Given the description of an element on the screen output the (x, y) to click on. 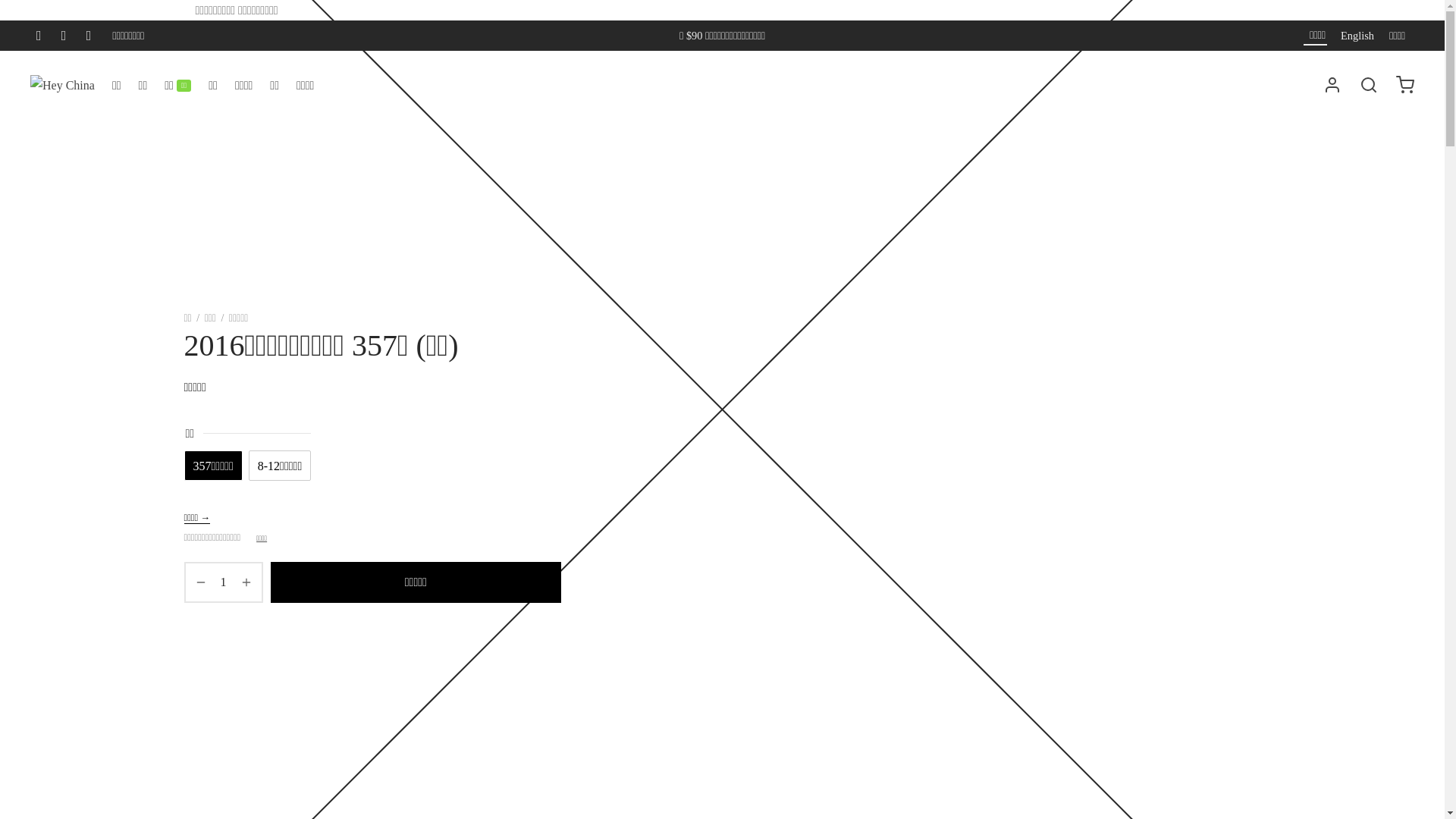
English Element type: text (1354, 35)
instagram Element type: hover (63, 35)
facebook Element type: hover (38, 35)
email Element type: hover (88, 35)
